Given the description of an element on the screen output the (x, y) to click on. 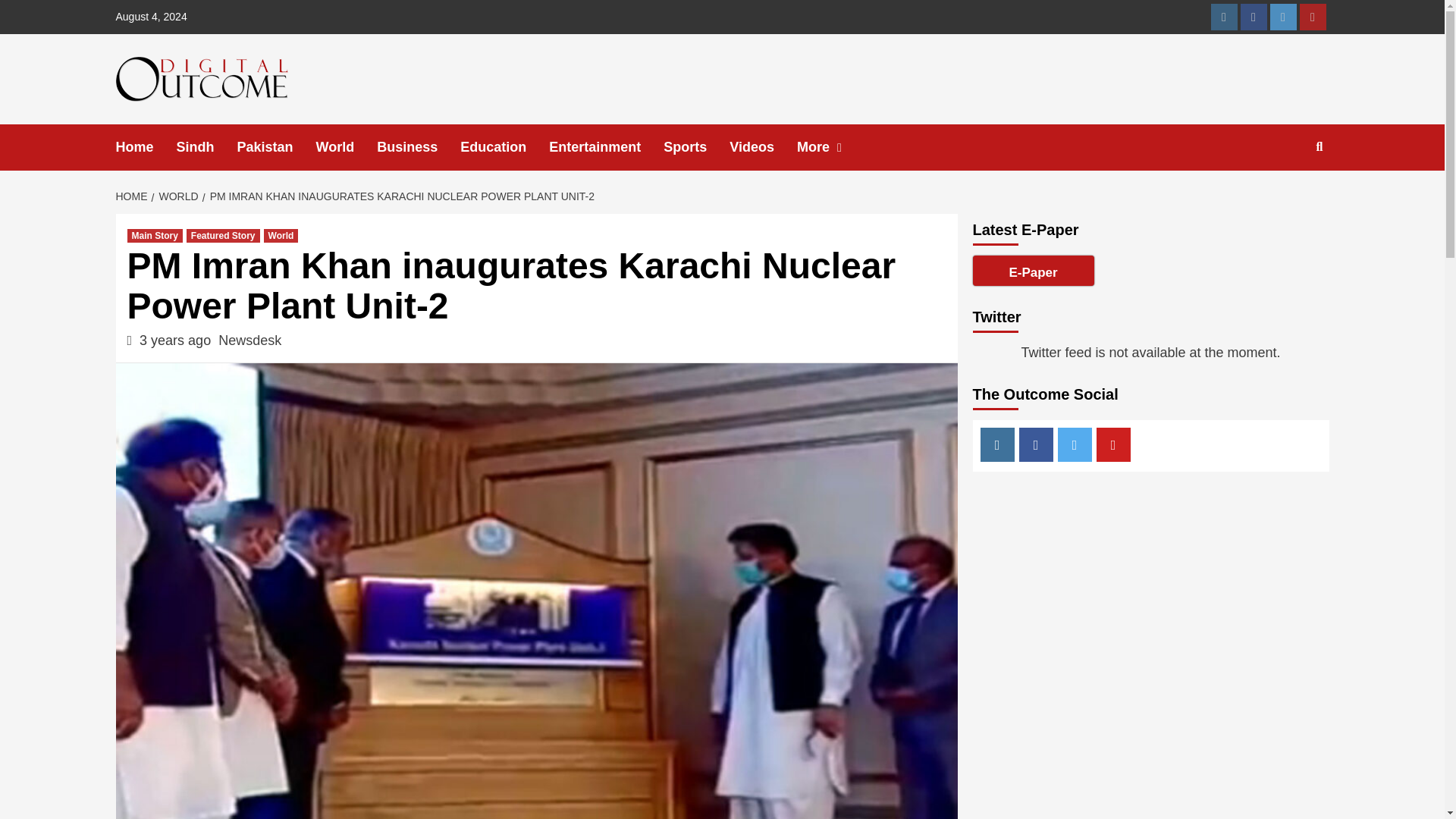
Sindh (206, 147)
Facebook (1253, 17)
Home (145, 147)
Pakistan (276, 147)
Featured Story (223, 235)
World (346, 147)
Search (1283, 195)
World (280, 235)
Twitter (1282, 17)
Videos (762, 147)
Main Story (155, 235)
More (834, 147)
Newsdesk (249, 340)
Entertainment (605, 147)
Instagram (1222, 17)
